Given the description of an element on the screen output the (x, y) to click on. 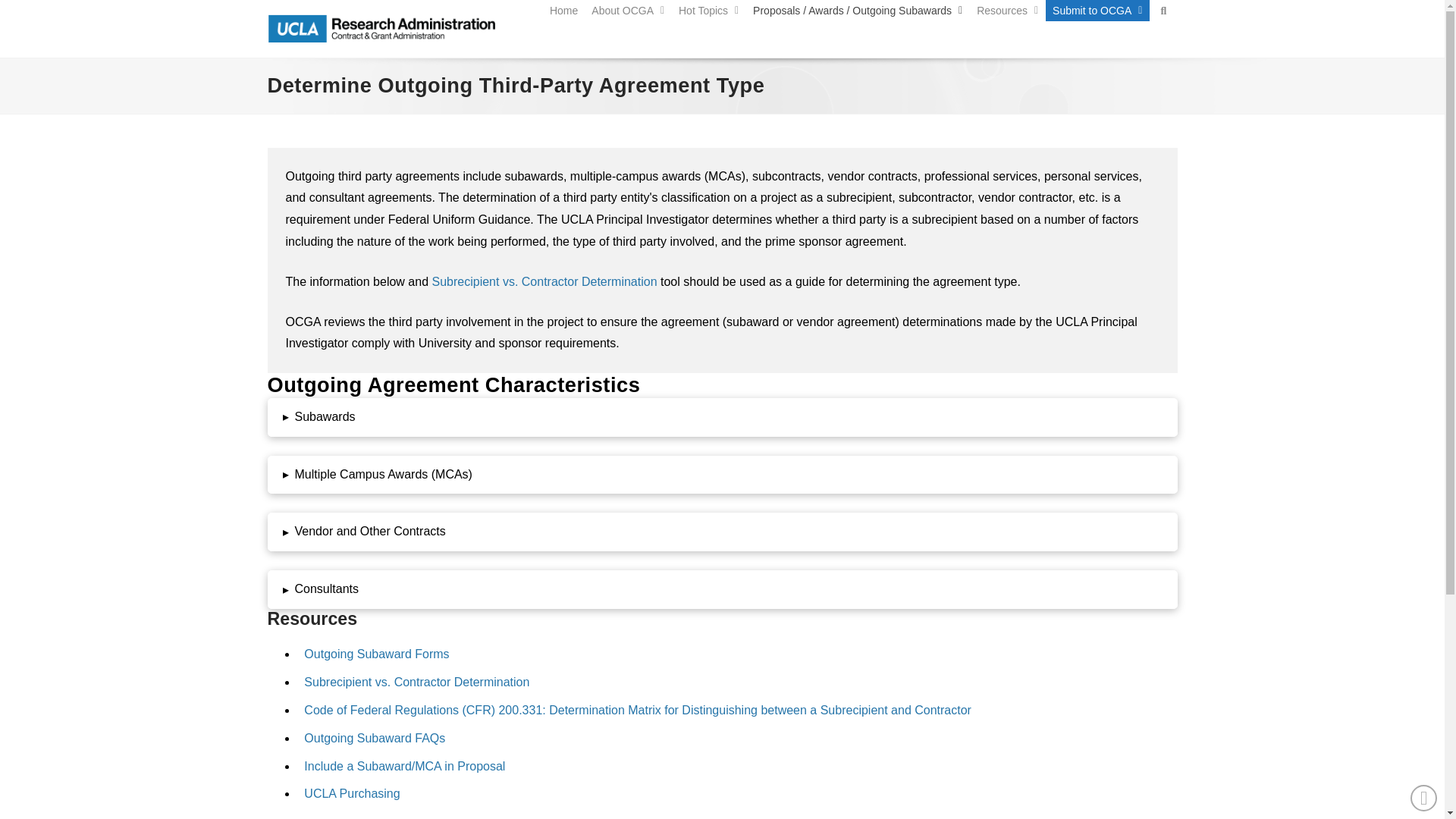
Home (564, 10)
search icon (1163, 11)
Back to Top (1423, 797)
